Given the description of an element on the screen output the (x, y) to click on. 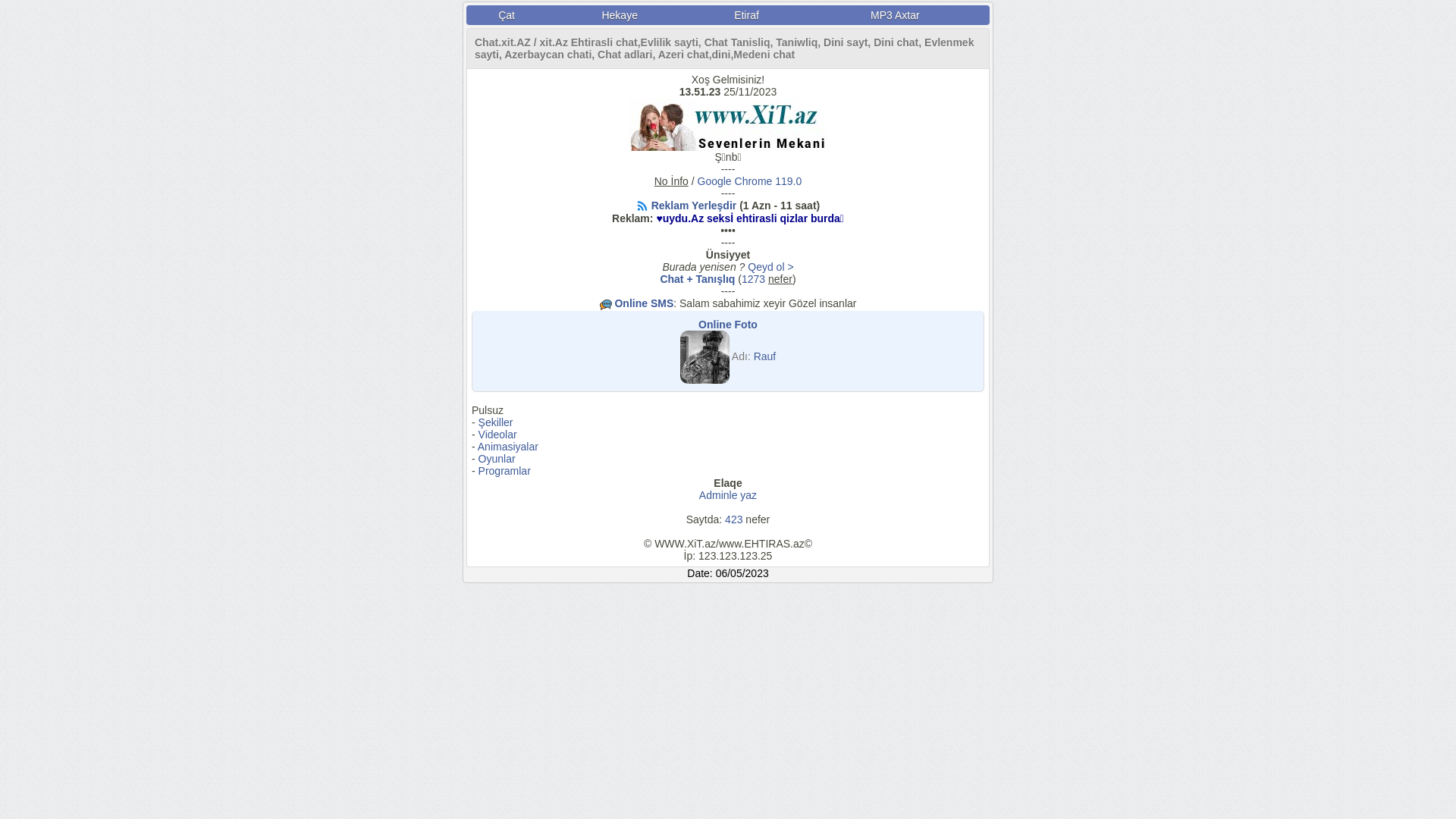
Programlar Element type: text (504, 470)
Online SMS Element type: text (643, 303)
Online Foto Element type: text (727, 324)
423 Element type: text (733, 519)
1273 Element type: text (753, 279)
Etiraf Element type: text (746, 15)
Animasiyalar Element type: text (507, 446)
Google Chrome 119.0 Element type: text (749, 181)
Hekaye Element type: text (619, 15)
Qeyd ol > Element type: text (770, 266)
MP3 Axtar Element type: text (894, 15)
Rauf Element type: text (764, 355)
Oyunlar Element type: text (496, 458)
Videolar Element type: text (497, 434)
Adminle yaz Element type: text (727, 495)
